Given the description of an element on the screen output the (x, y) to click on. 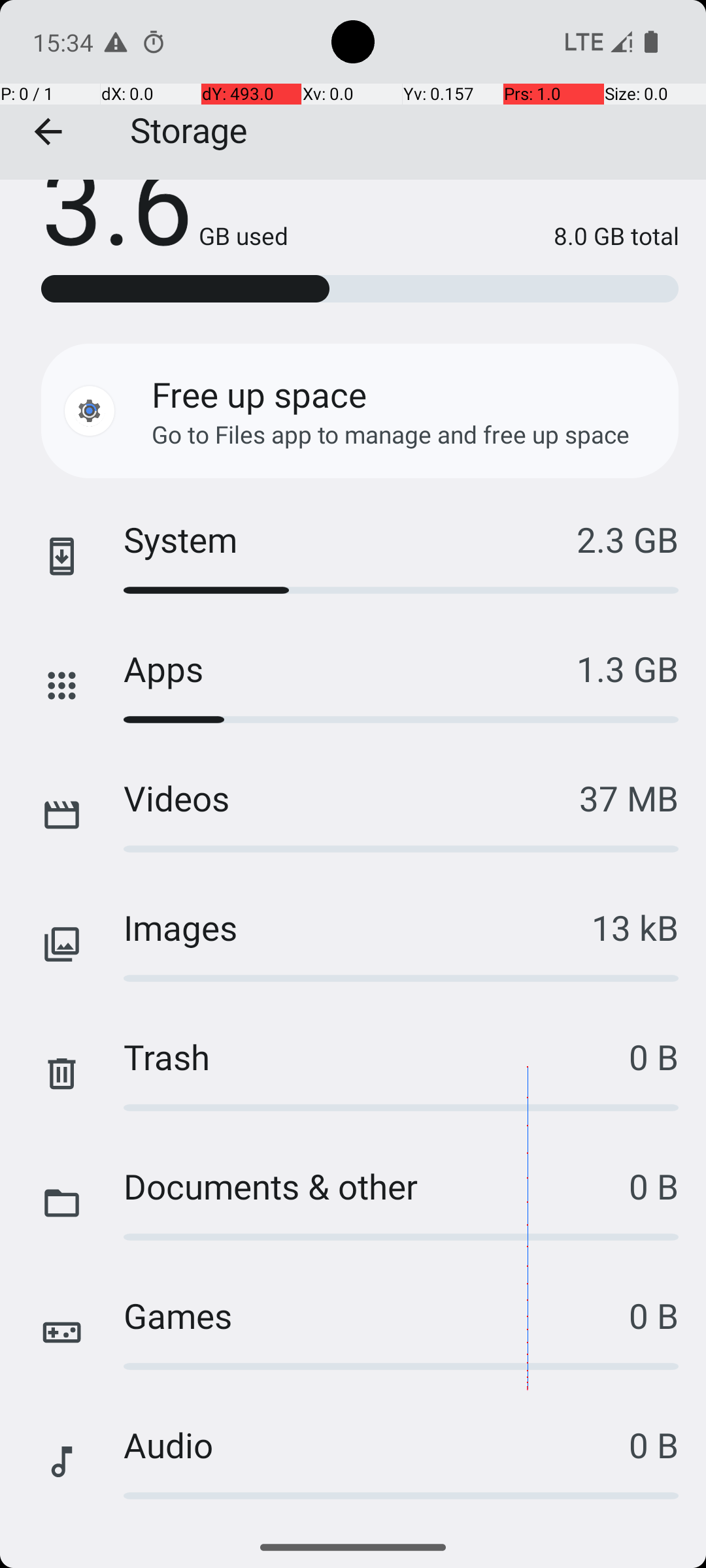
3.6 GB used Element type: android.widget.TextView (164, 227)
2.3 GB Element type: android.widget.TextView (627, 539)
1.3 GB Element type: android.widget.TextView (627, 668)
37 MB Element type: android.widget.TextView (628, 797)
13 kB Element type: android.widget.TextView (634, 927)
Games Element type: android.widget.TextView (375, 1315)
